Given the description of an element on the screen output the (x, y) to click on. 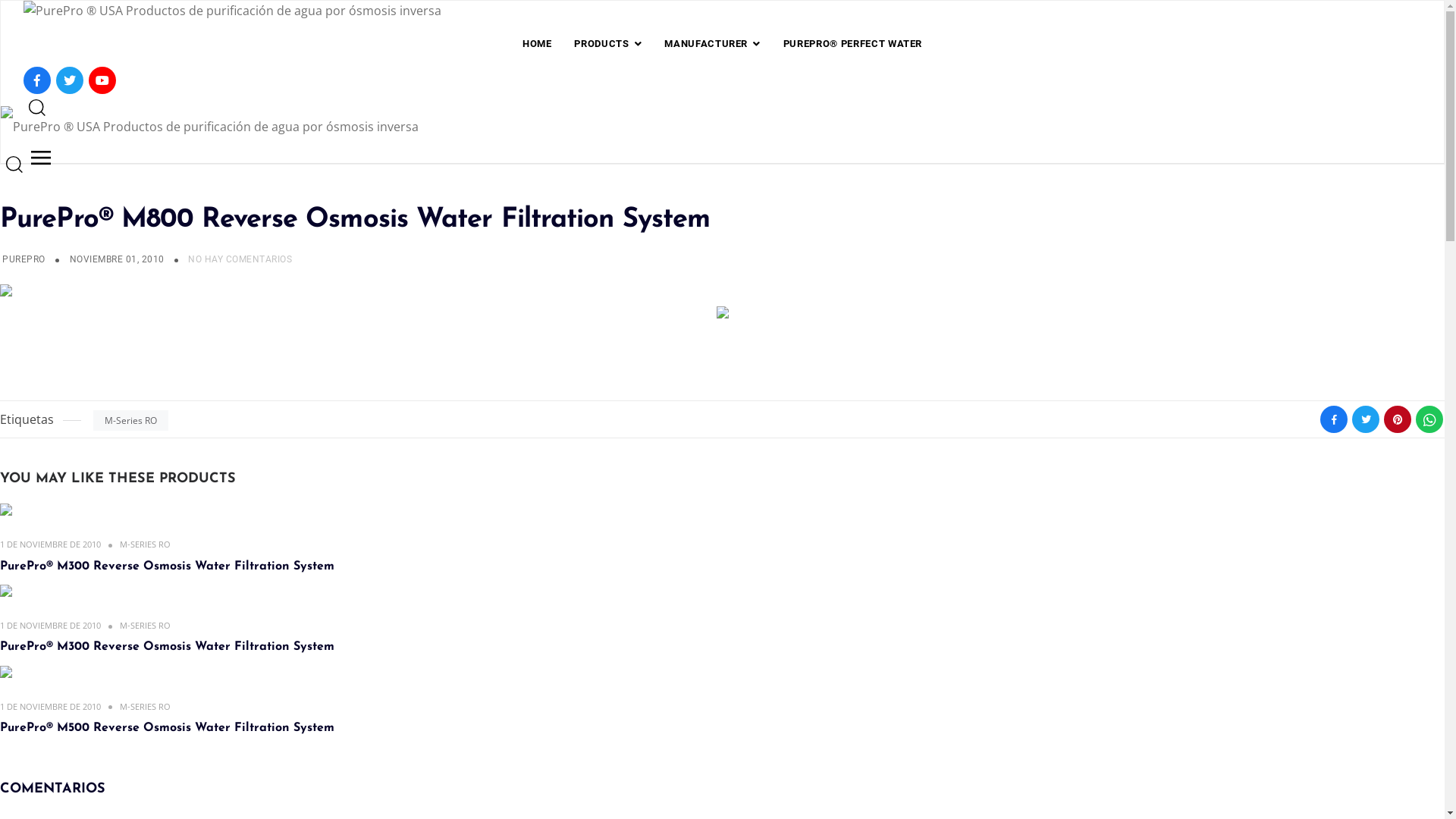
HOME Element type: text (537, 43)
NOVIEMBRE 01, 2010 Element type: text (117, 259)
M-Series RO Element type: text (130, 420)
PRODUCTS Element type: text (607, 43)
MANUFACTURER Element type: text (711, 43)
PUREPRO Element type: text (23, 259)
